Given the description of an element on the screen output the (x, y) to click on. 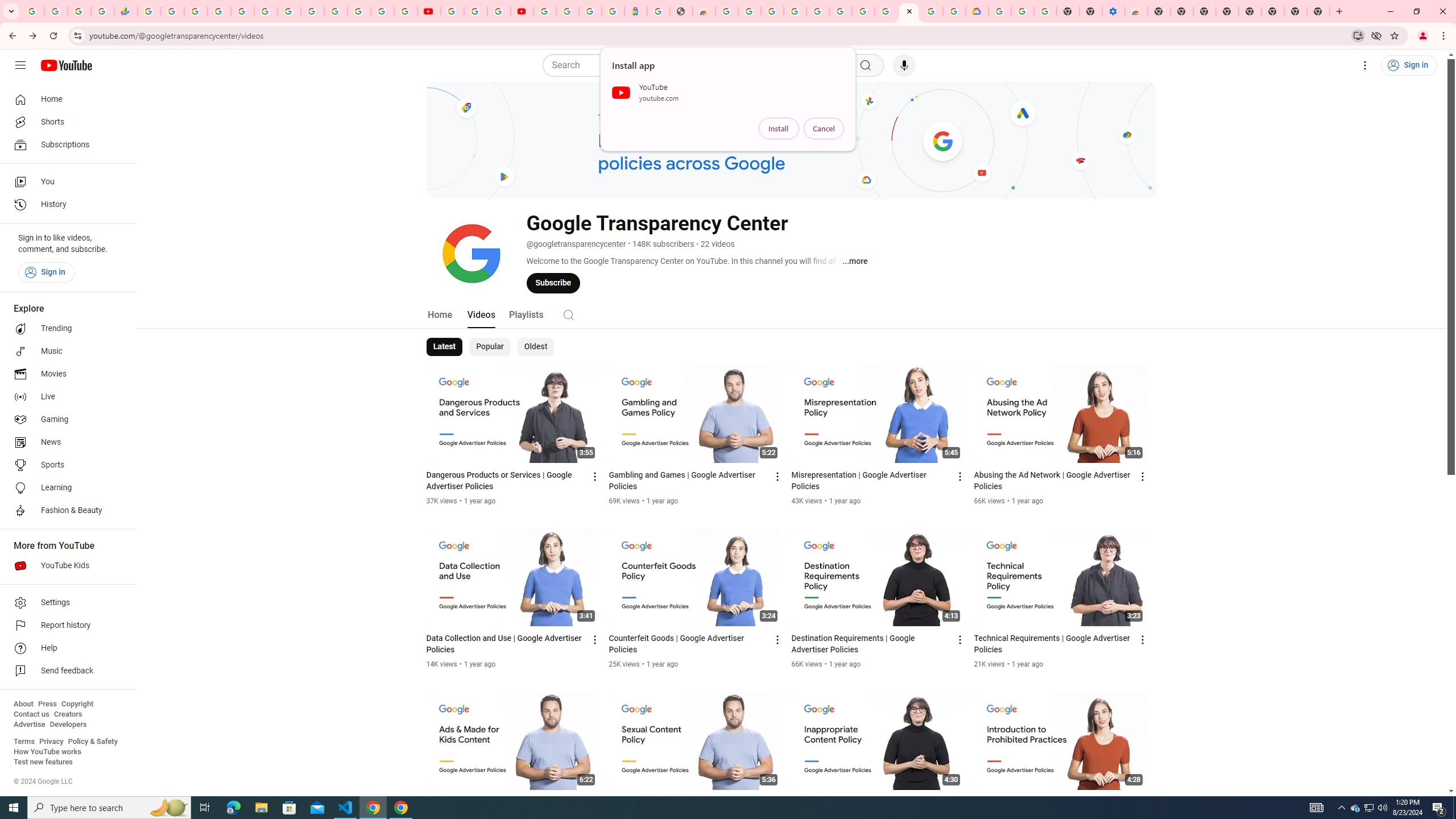
Google Account Help (863, 11)
Latest (444, 346)
Videos (481, 314)
Privacy Checkup (405, 11)
Learning (64, 487)
Gaming (64, 419)
Chrome Web Store - Household (703, 11)
Developers (68, 724)
YouTube Kids (64, 565)
